Given the description of an element on the screen output the (x, y) to click on. 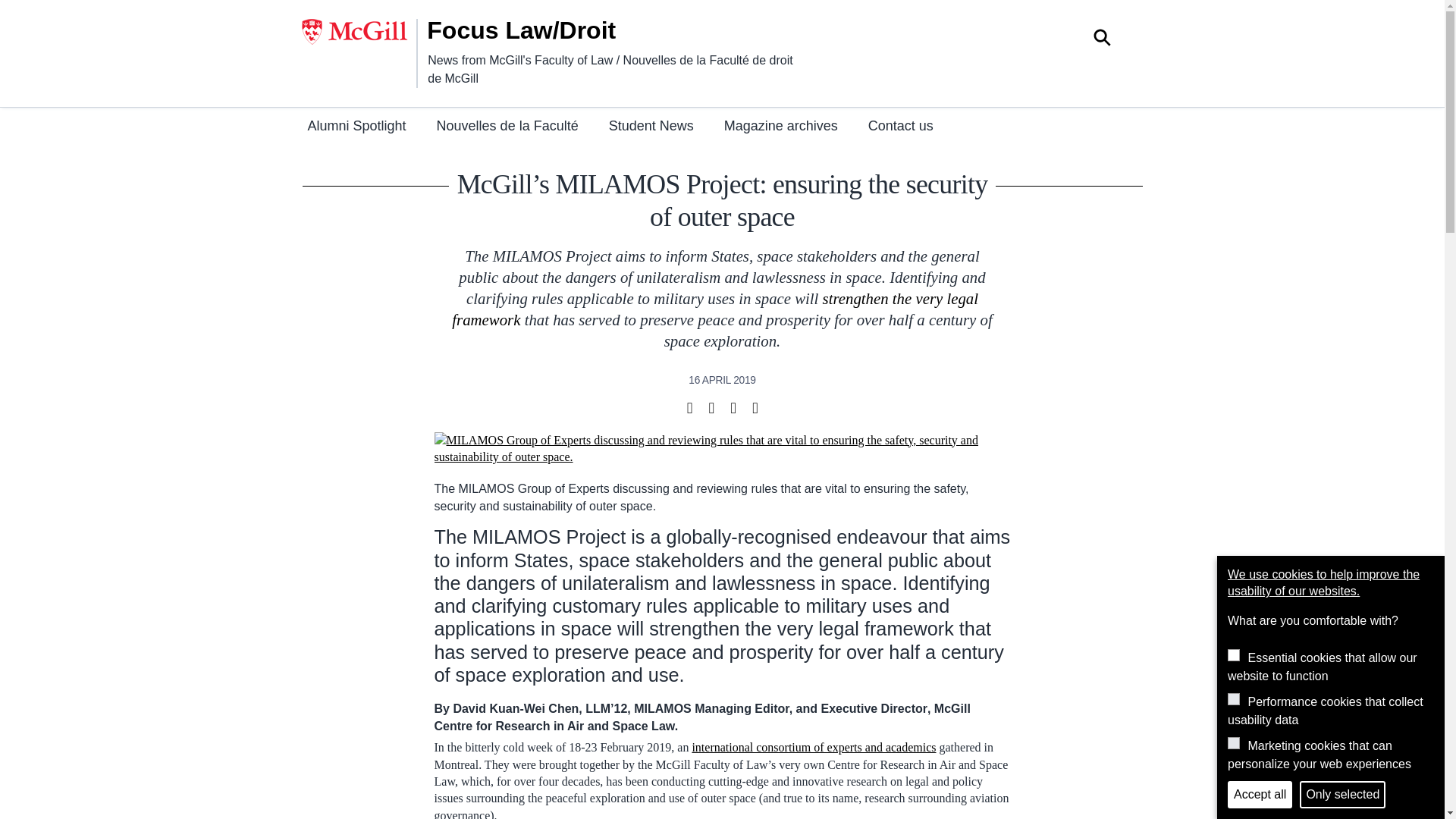
McGill University (358, 31)
marketing (1233, 743)
Alumni Spotlight (356, 128)
Search (1102, 40)
performance (1233, 698)
Student News (651, 128)
Magazine archives (780, 128)
international consortium of experts and academics (813, 747)
Search (1102, 40)
Contact us (900, 128)
